Given the description of an element on the screen output the (x, y) to click on. 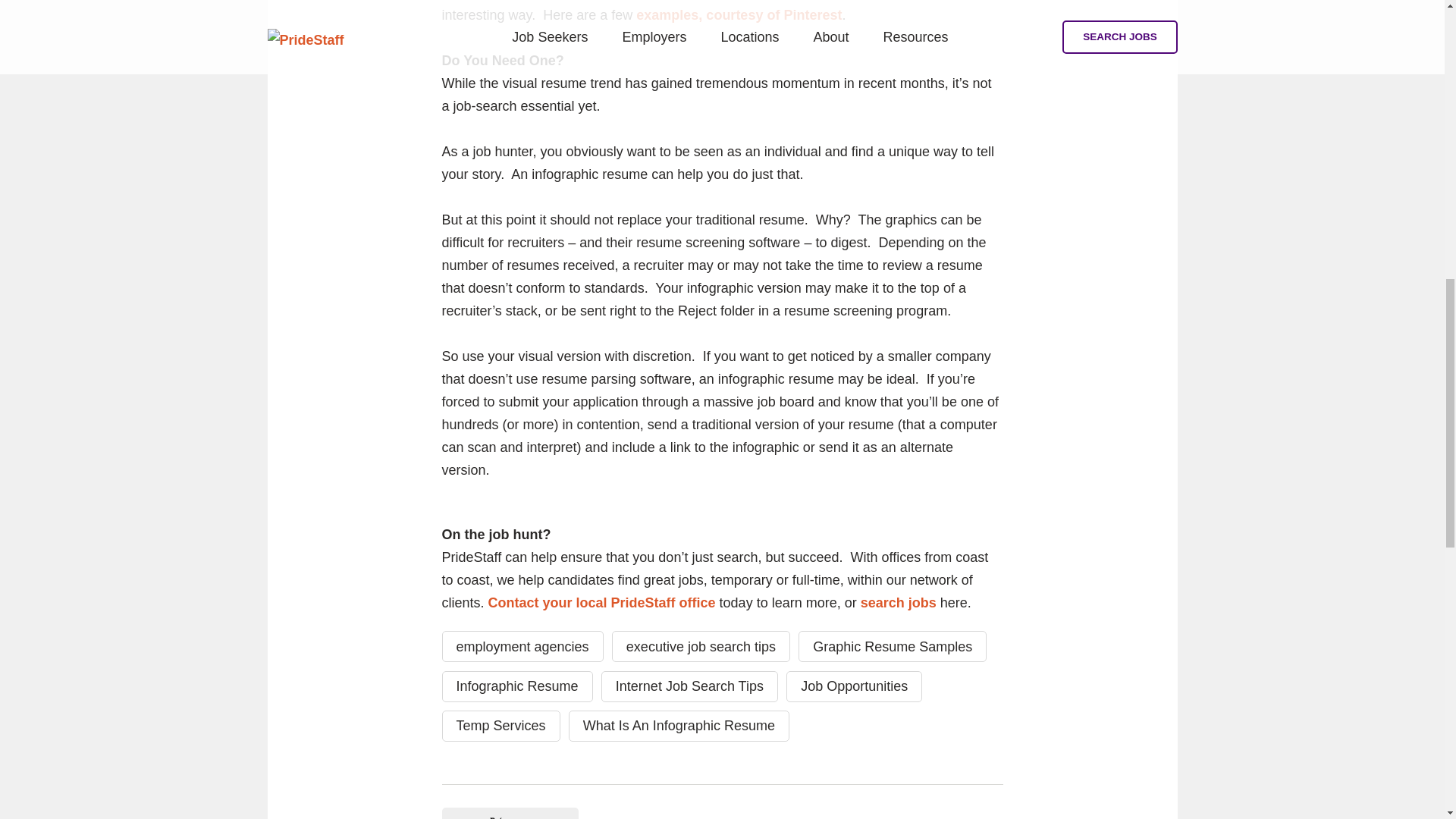
employment agencies (521, 645)
Contact your local PrideStaff office (601, 602)
PrideStaff - Locations (601, 602)
PrideStaff - Search Jobs (898, 602)
Infographic Resume Examples (738, 14)
examples, courtesy of Pinterest (738, 14)
search jobs (898, 602)
